Given the description of an element on the screen output the (x, y) to click on. 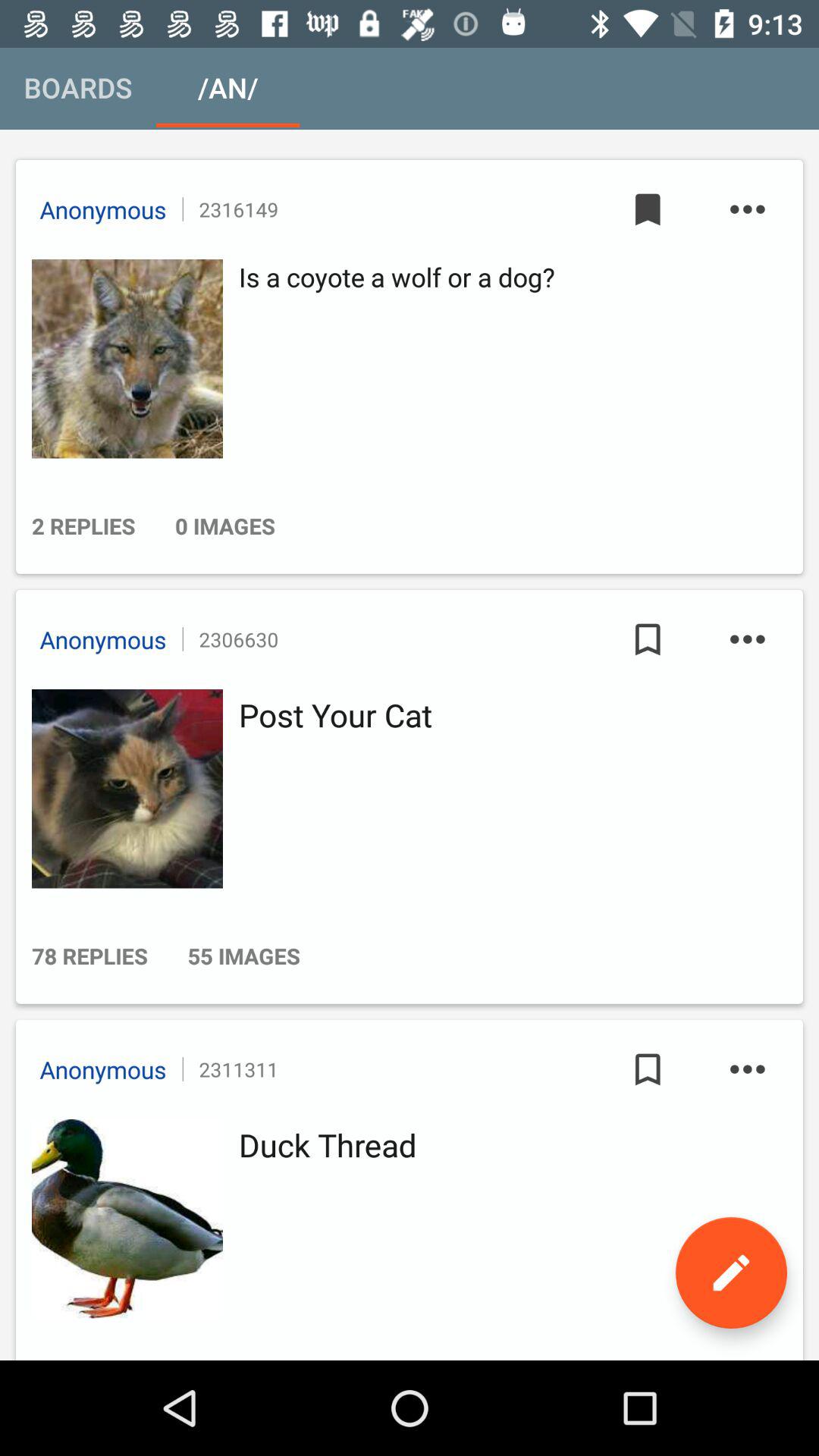
view picture (122, 788)
